Given the description of an element on the screen output the (x, y) to click on. 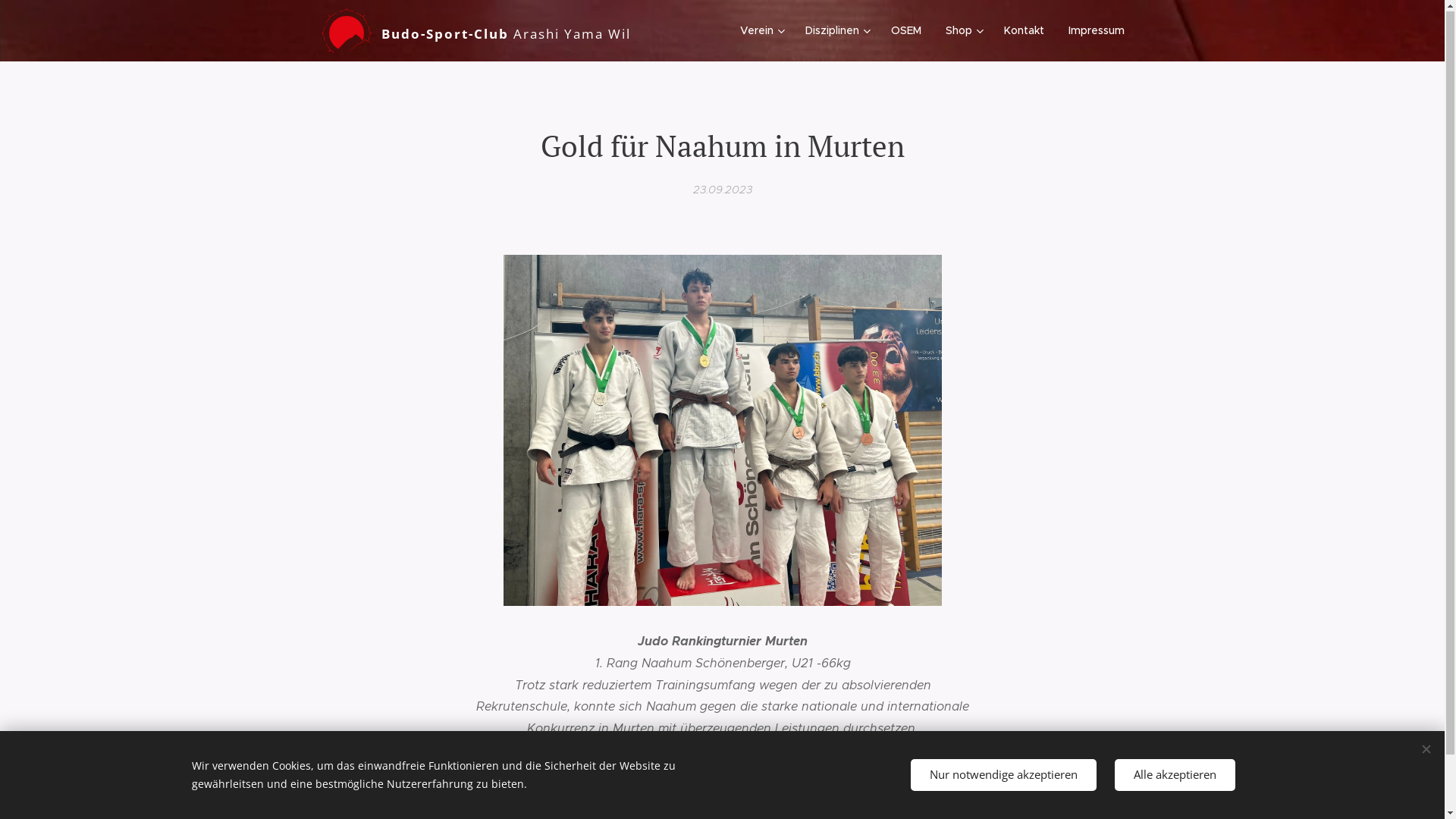
Impressum Element type: text (1089, 31)
Disziplinen Element type: text (835, 31)
Shop Element type: text (961, 31)
Verein Element type: text (763, 31)
Kontakt Element type: text (1023, 31)
Budo-Sport-Club Arashi Yama Wil Element type: text (477, 31)
OSEM Element type: text (905, 31)
Nur notwendige akzeptieren Element type: text (1002, 774)
Alle akzeptieren Element type: text (1174, 774)
